Given the description of an element on the screen output the (x, y) to click on. 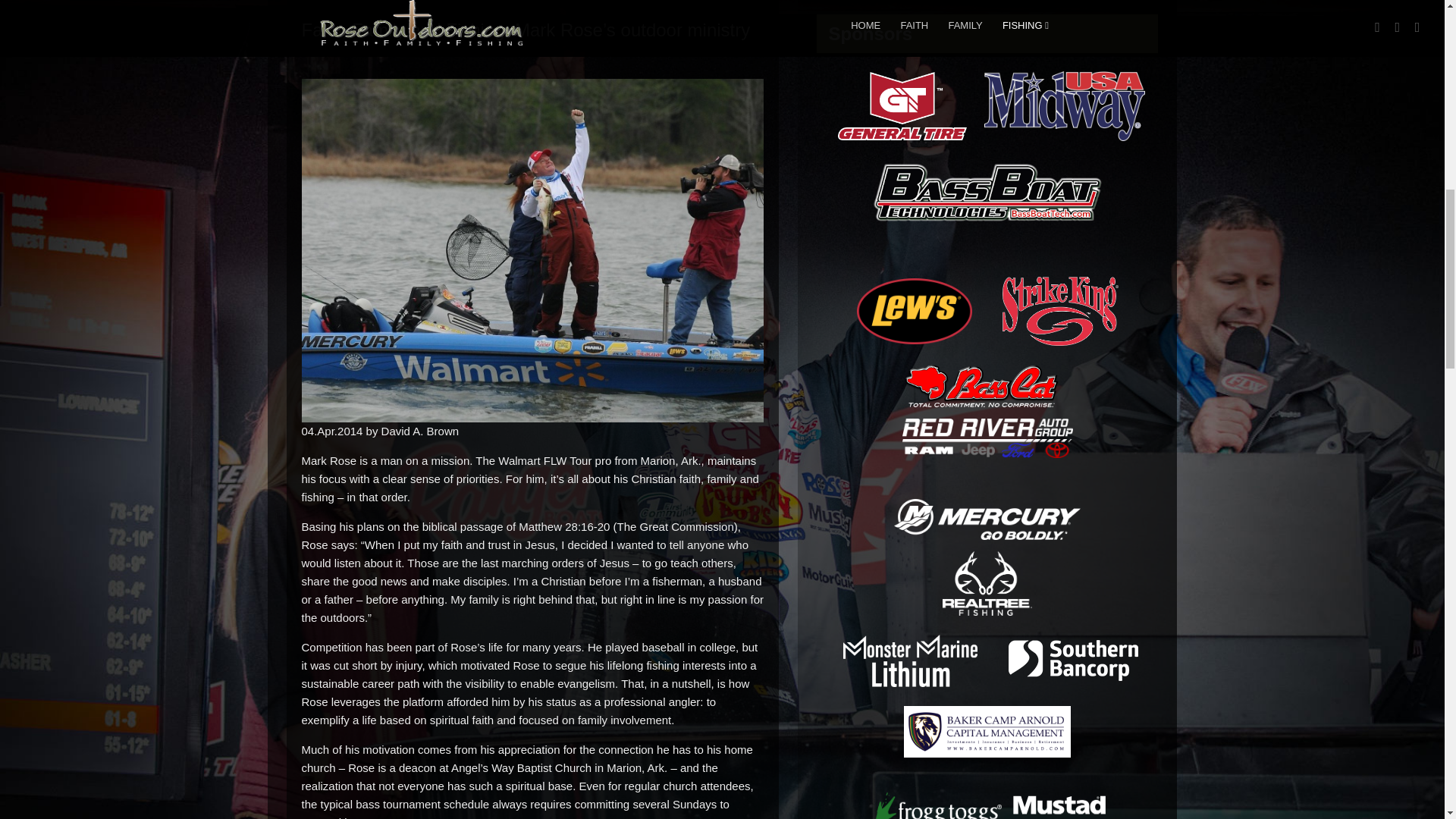
Lews (914, 310)
General Tire (902, 106)
